Given the description of an element on the screen output the (x, y) to click on. 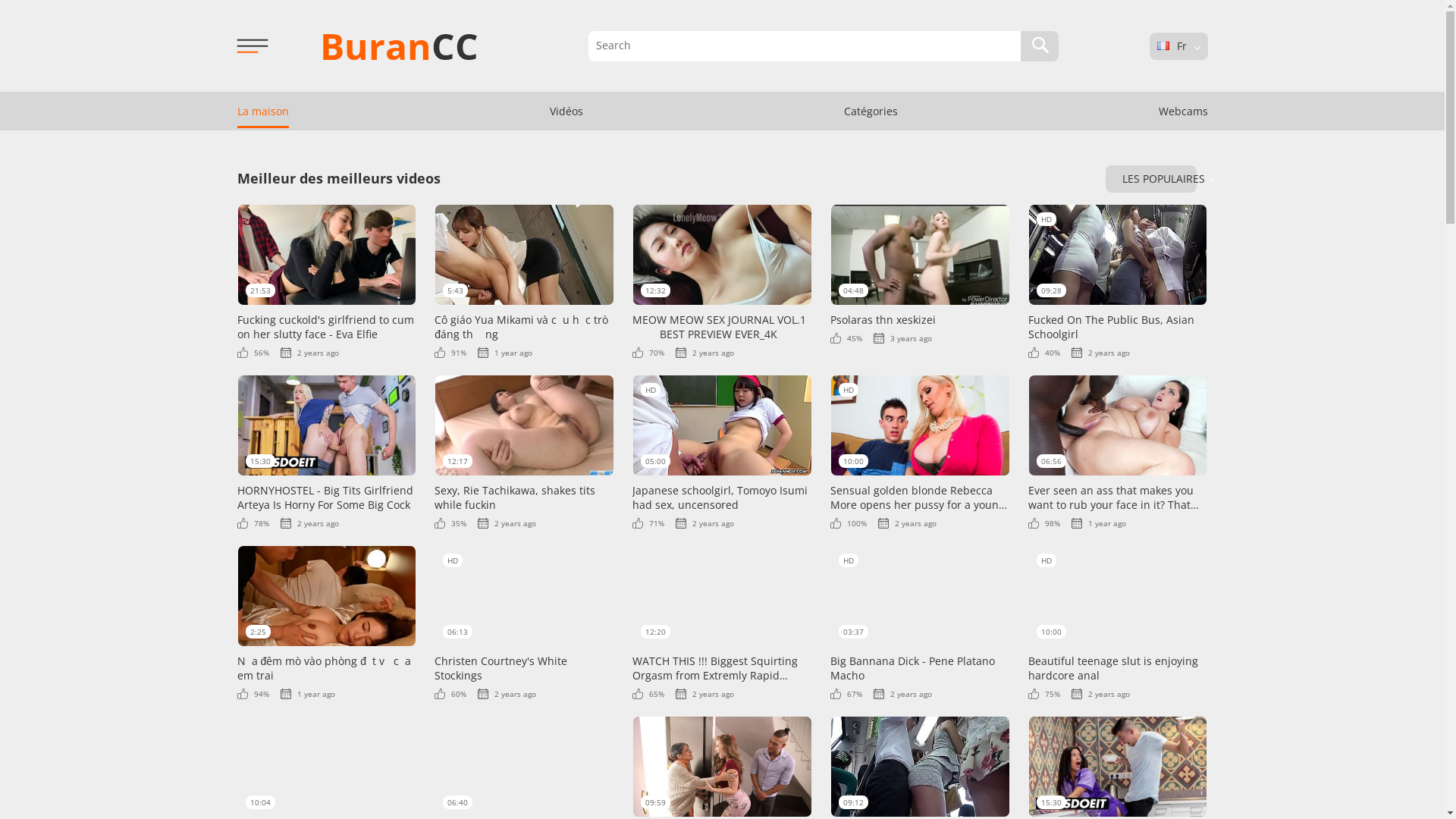
La maison Element type: text (261, 111)
Fr Element type: hover (1163, 45)
BuranCC Element type: text (399, 45)
Webcams Element type: text (1183, 111)
HD
06:13
Christen Courtney's White Stockings
60%
2 years ago Element type: text (524, 622)
04:48
Psolaras thn xeskizei
45%
3 years ago Element type: text (920, 273)
